Given the description of an element on the screen output the (x, y) to click on. 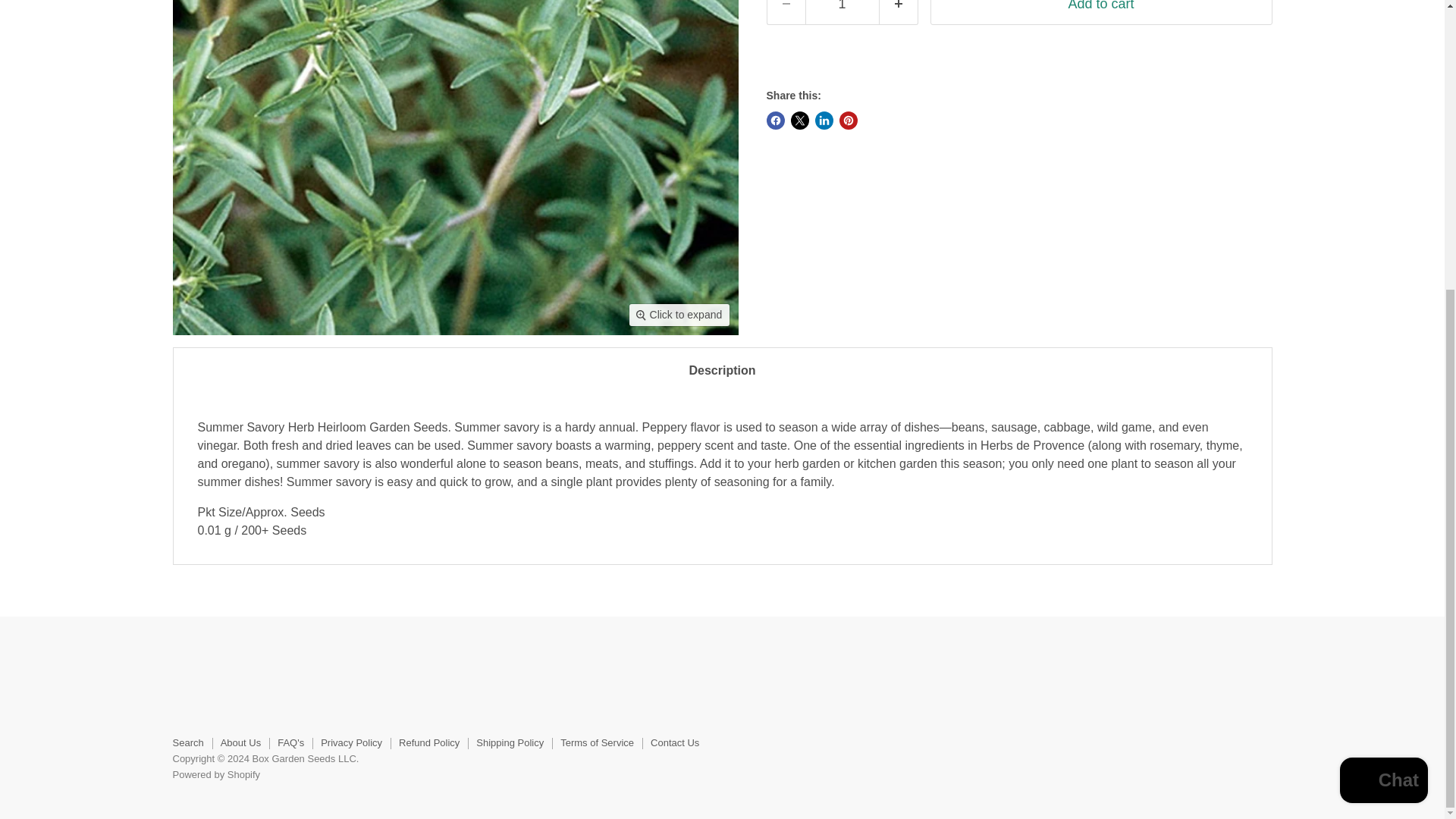
1 (842, 12)
Shopify online store chat (1383, 341)
